Given the description of an element on the screen output the (x, y) to click on. 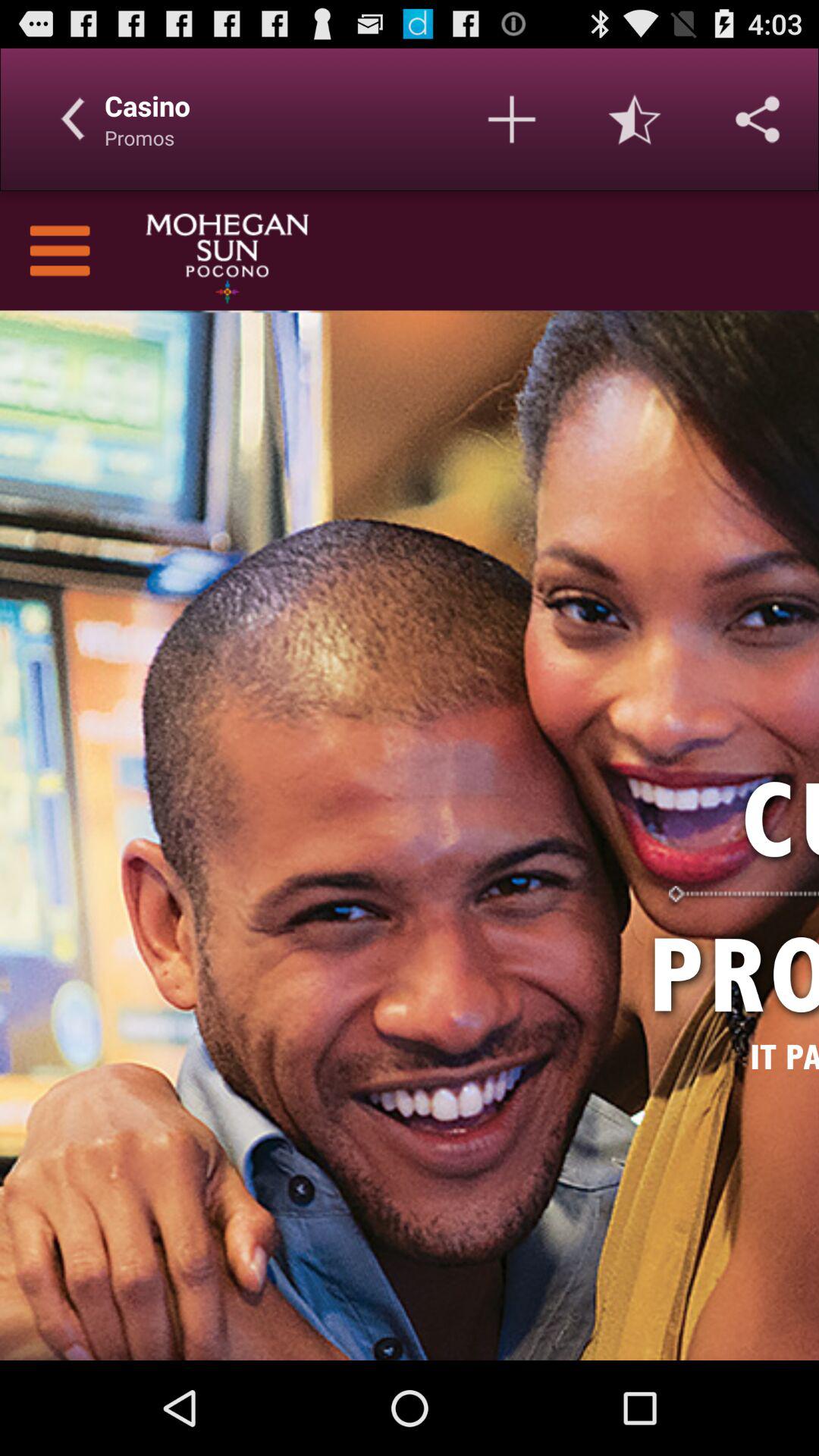
share the article (757, 119)
